Given the description of an element on the screen output the (x, y) to click on. 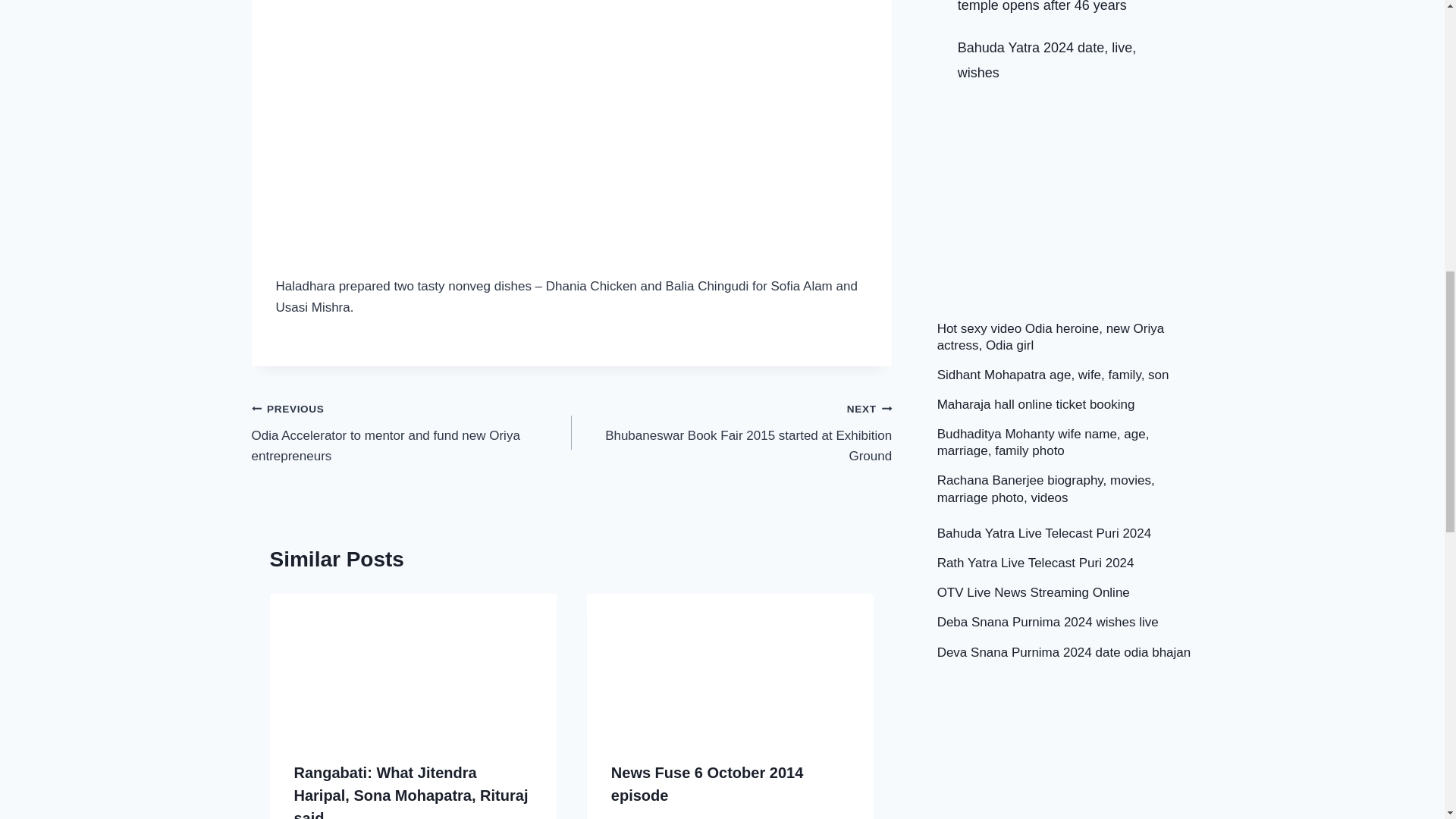
News Fuse 6 October 2014 episode (707, 783)
